Given the description of an element on the screen output the (x, y) to click on. 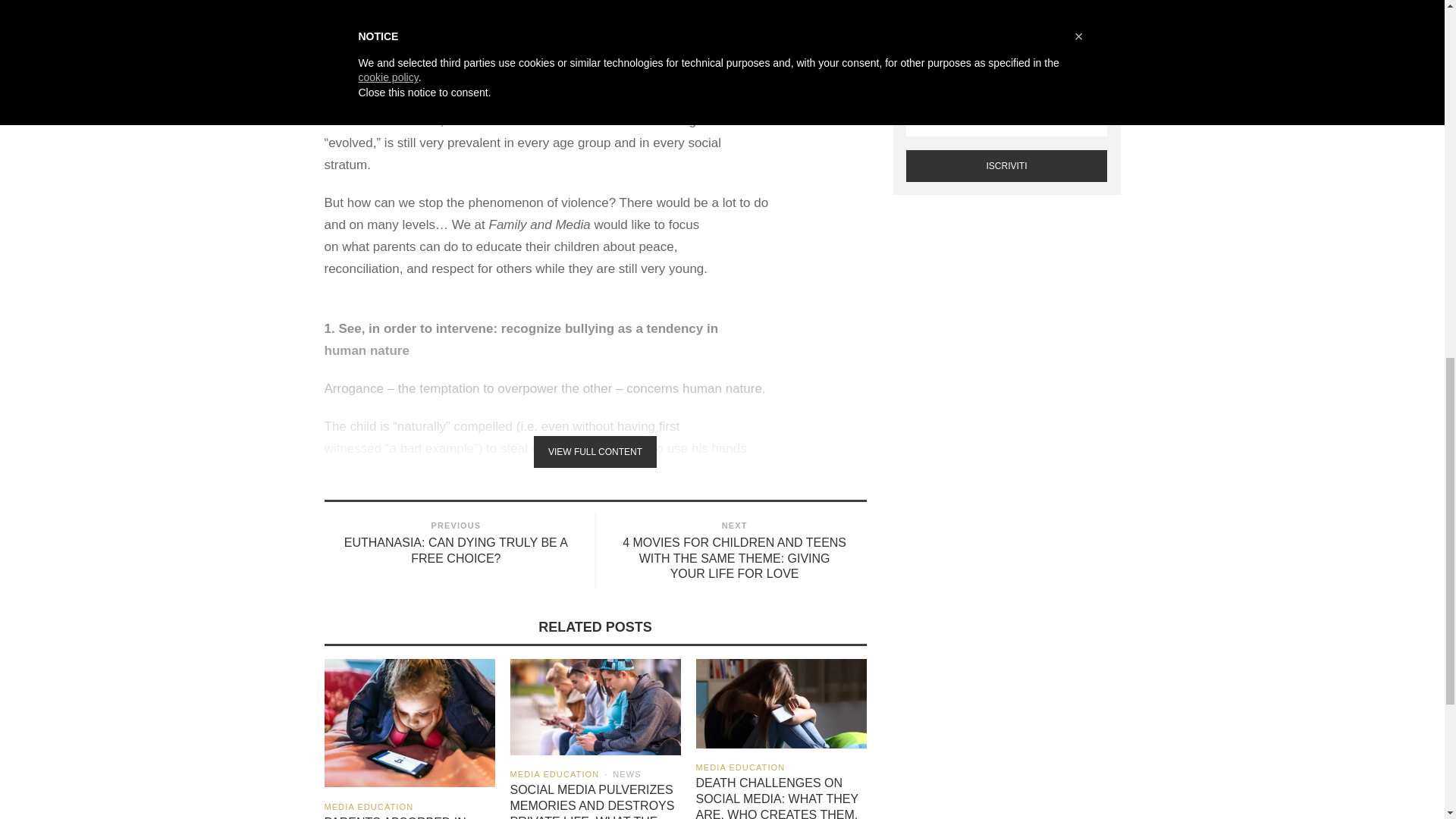
Iscriviti (1005, 165)
